Given the description of an element on the screen output the (x, y) to click on. 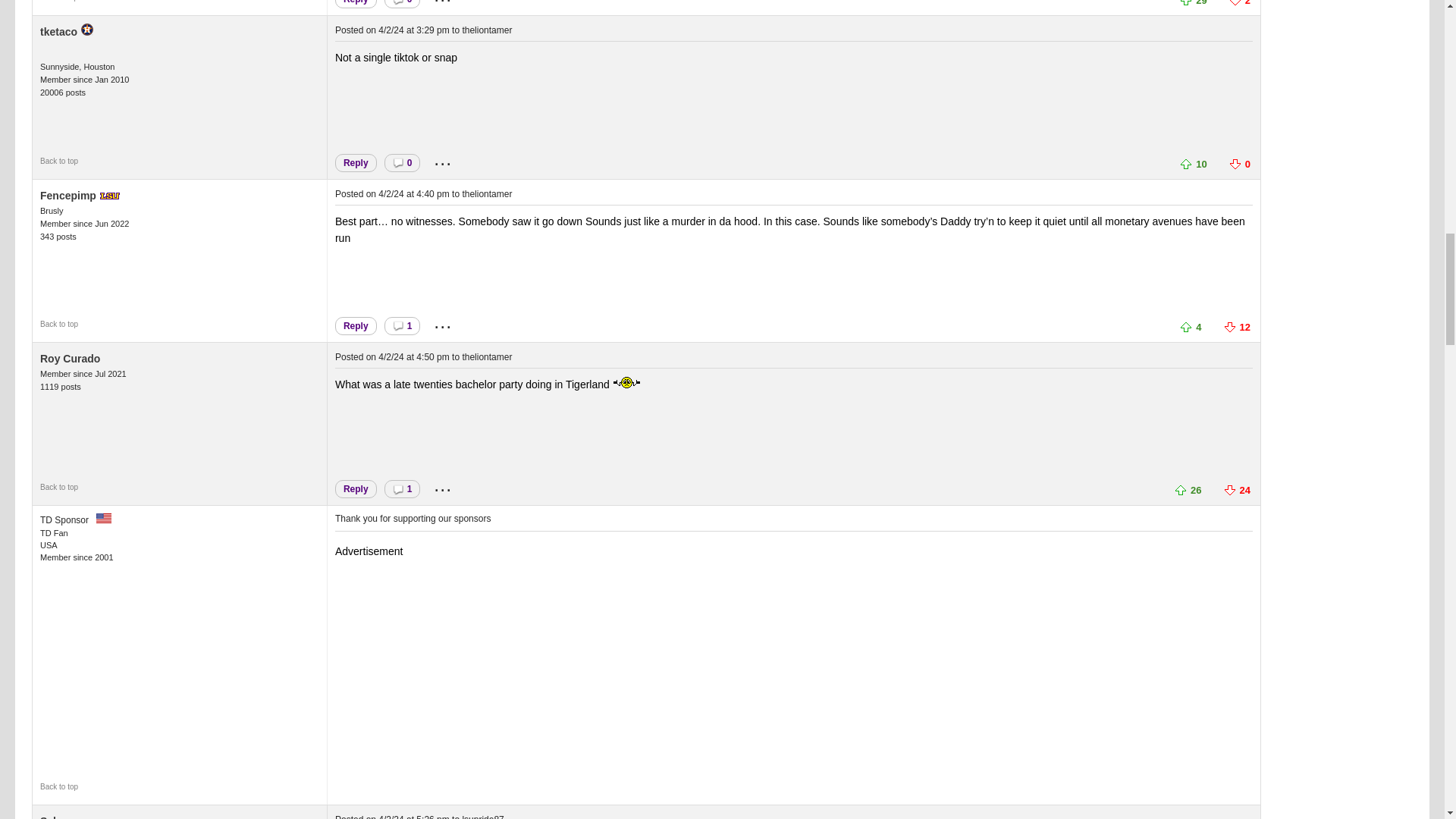
You must be logged in to vote (1187, 2)
You must be logged in to vote (1187, 325)
You must be logged in to vote (1231, 489)
You must be logged in to vote (1237, 2)
You must be logged in to vote (1181, 489)
You must be logged in to vote (1237, 162)
You must be logged in to vote (1231, 325)
You must be logged in to vote (1187, 162)
